Given the description of an element on the screen output the (x, y) to click on. 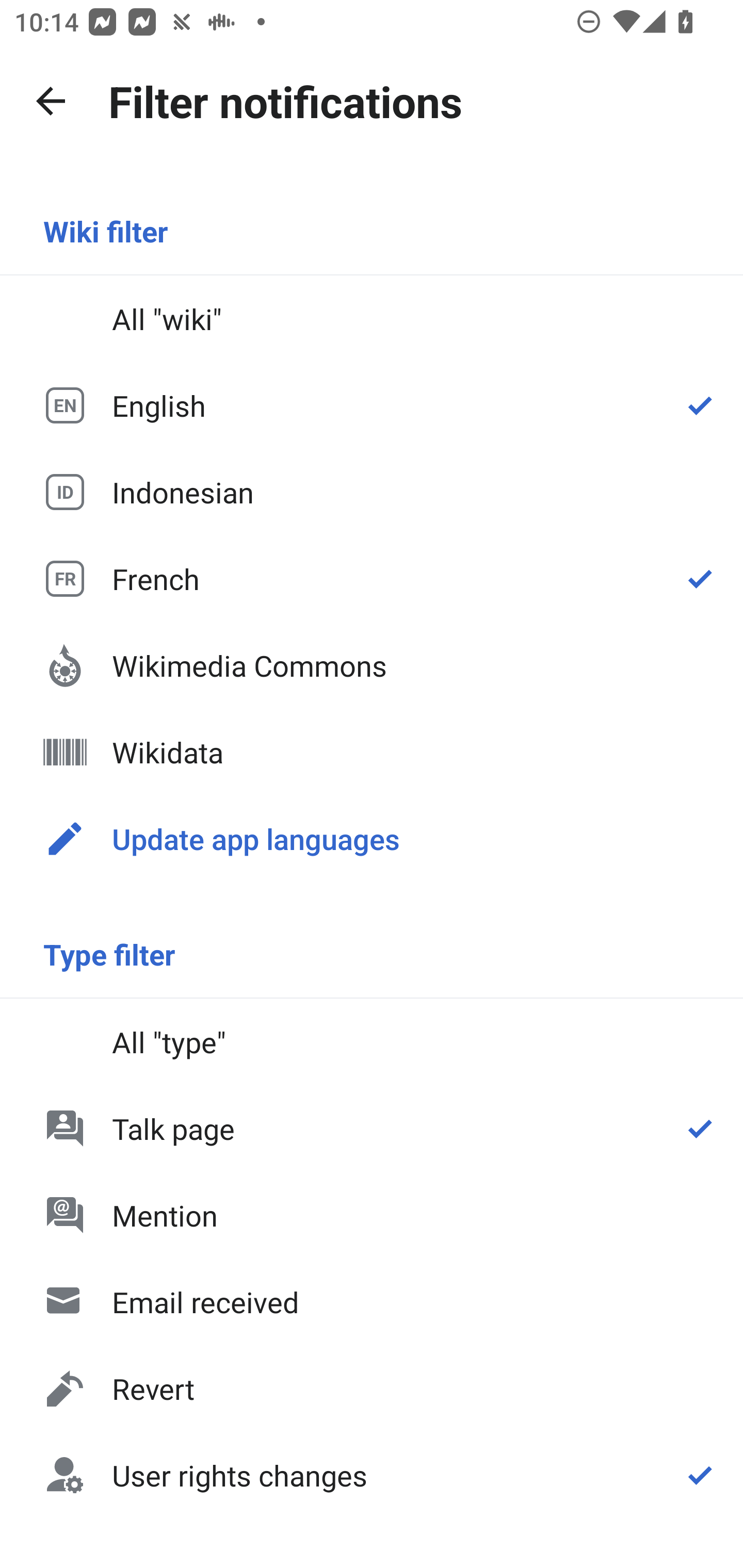
Navigate up (50, 101)
All "wiki" (371, 318)
EN English (371, 405)
ID Indonesian (371, 491)
FR French (371, 578)
Wikimedia Commons (371, 665)
Wikidata (371, 751)
Update app languages (371, 837)
All "type" (371, 1041)
Talk page (371, 1128)
Mention (371, 1215)
Email received (371, 1302)
Revert (371, 1388)
User rights changes (371, 1474)
